Given the description of an element on the screen output the (x, y) to click on. 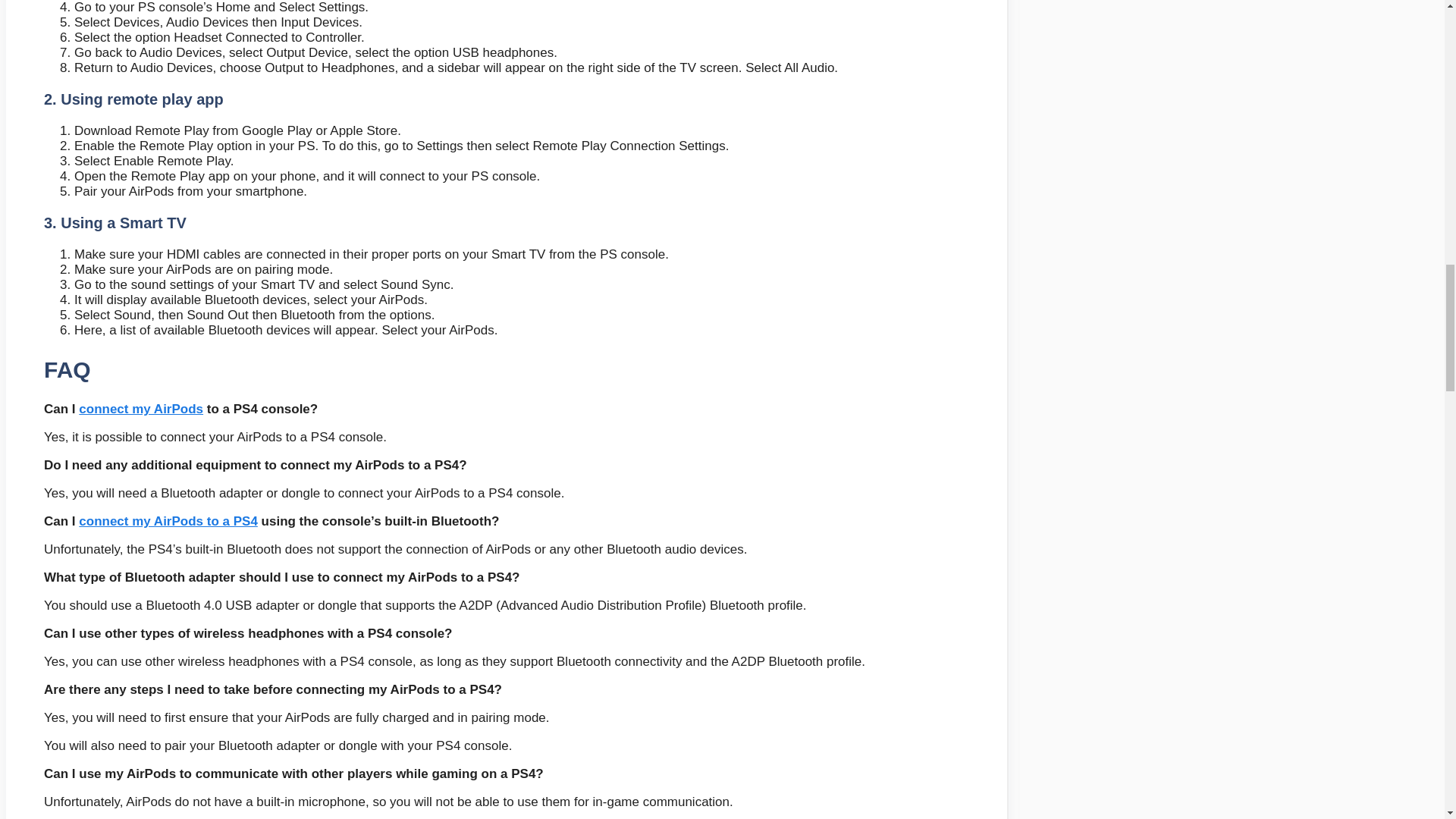
connect my AirPods to a PS4 (167, 521)
connect my AirPods (140, 409)
